Given the description of an element on the screen output the (x, y) to click on. 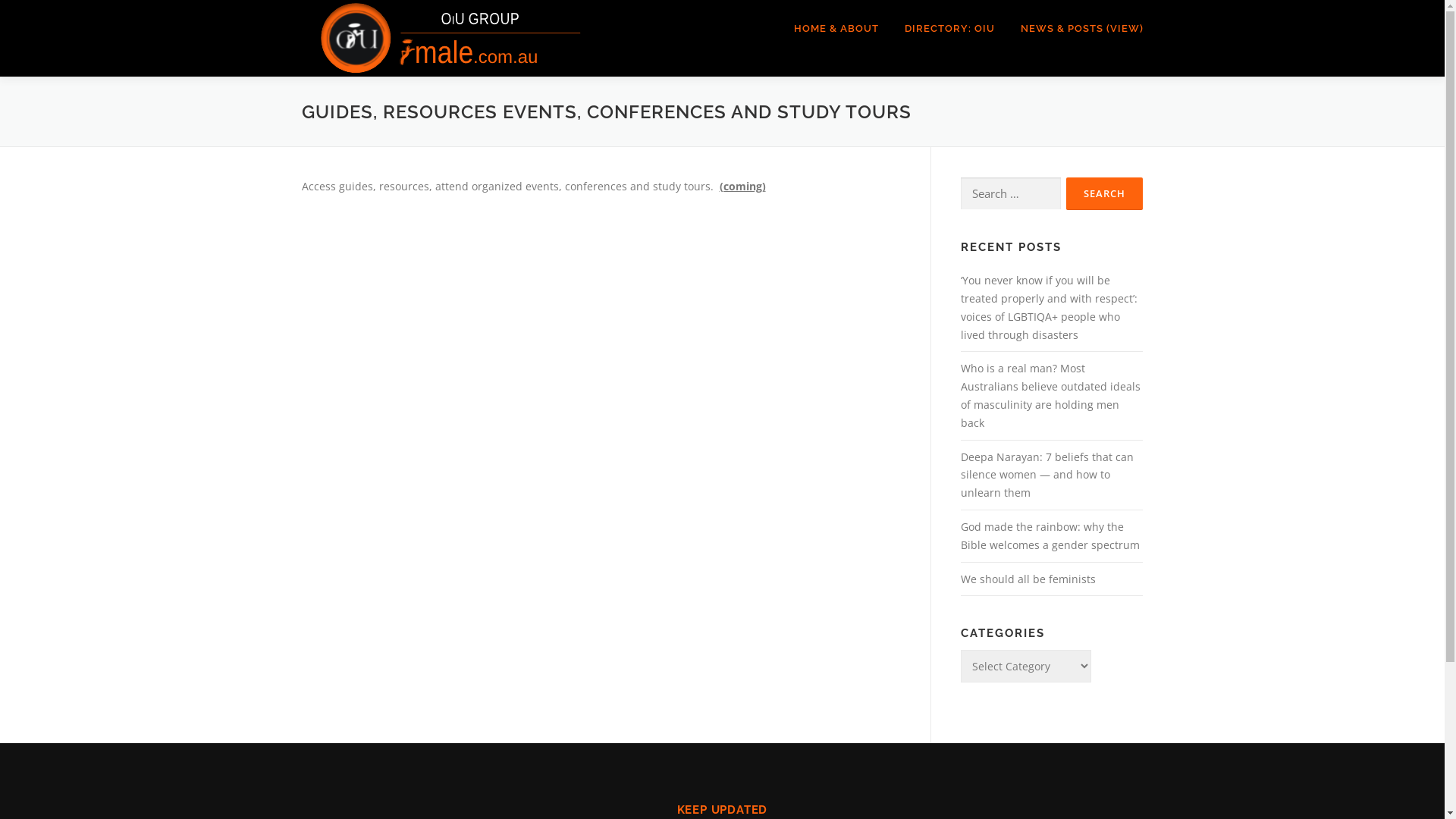
HOME & ABOUT Element type: text (836, 28)
DIRECTORY: OIU Element type: text (949, 28)
We should all be feminists Element type: text (1027, 578)
NEWS & POSTS (VIEW) Element type: text (1074, 28)
Search Element type: text (1104, 193)
